Given the description of an element on the screen output the (x, y) to click on. 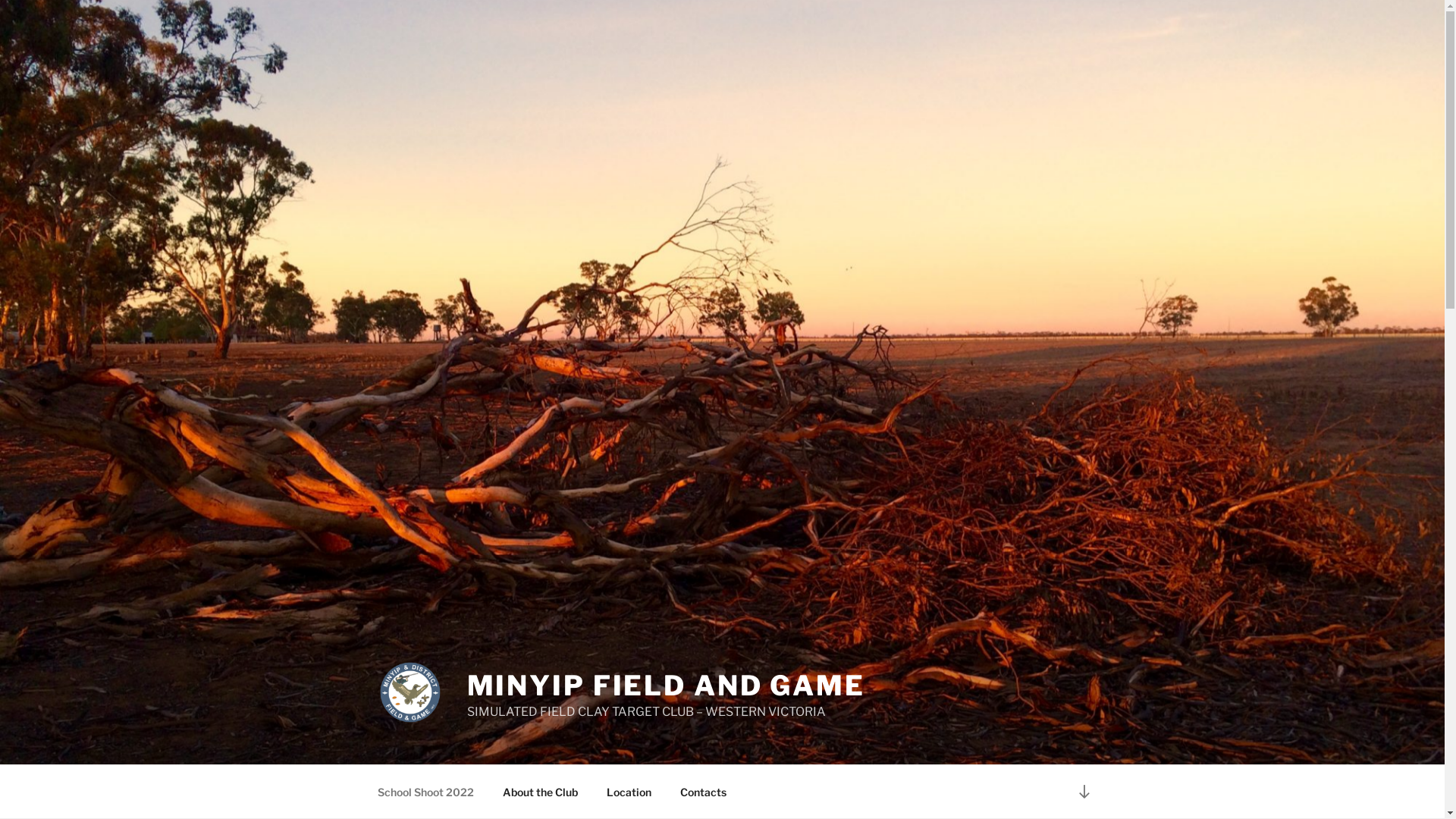
About the Club Element type: text (540, 791)
MINYIP FIELD AND GAME Element type: text (666, 685)
Scroll down to content Element type: text (1083, 790)
Contacts Element type: text (703, 791)
School Shoot 2022 Element type: text (425, 791)
Location Element type: text (628, 791)
